Given the description of an element on the screen output the (x, y) to click on. 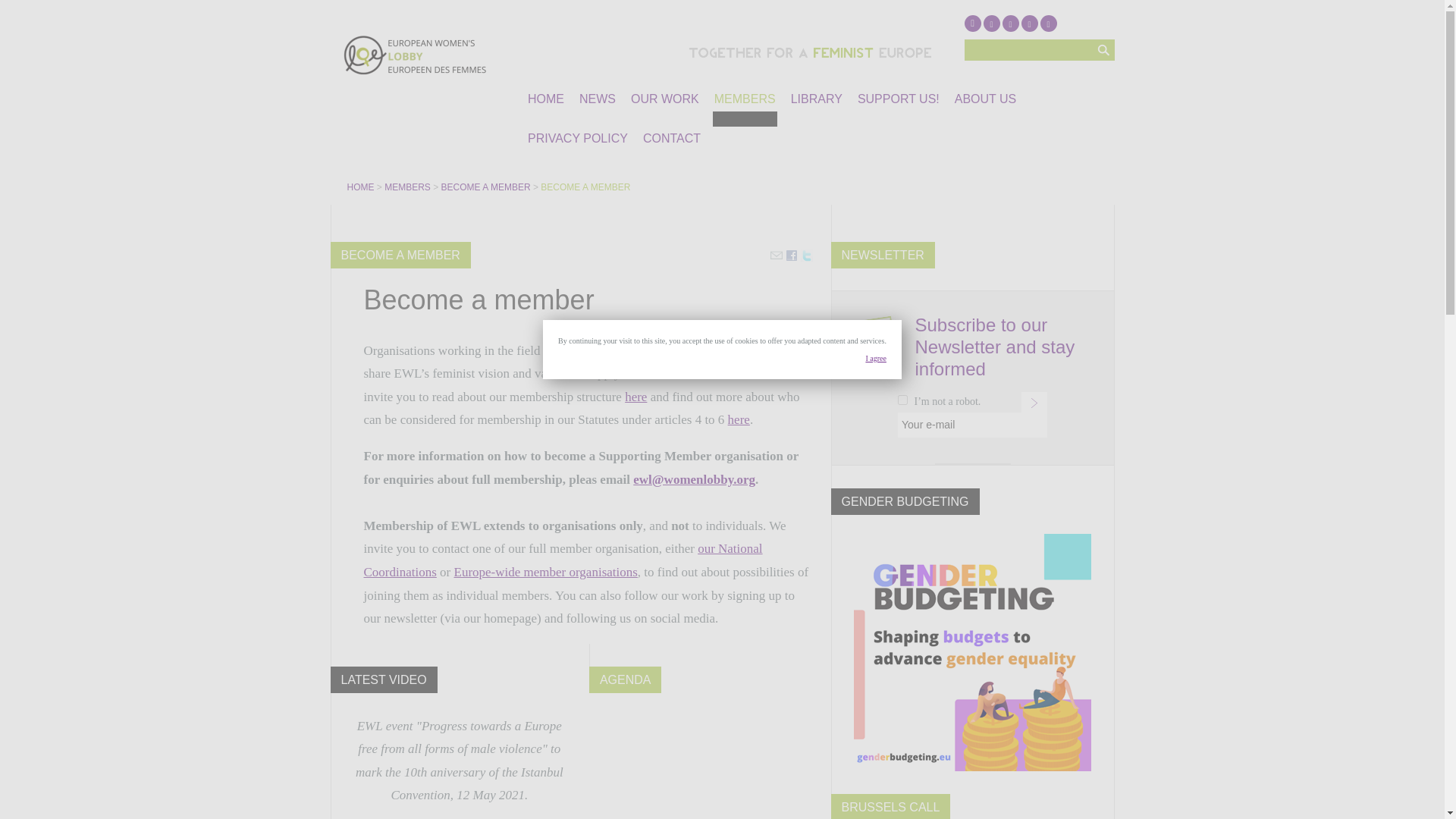
1 (902, 399)
Subscribe to the Newsletter (1034, 403)
Rechercher (1103, 49)
Members (408, 186)
Become a member (486, 186)
European Women's Lobby (362, 186)
